Given the description of an element on the screen output the (x, y) to click on. 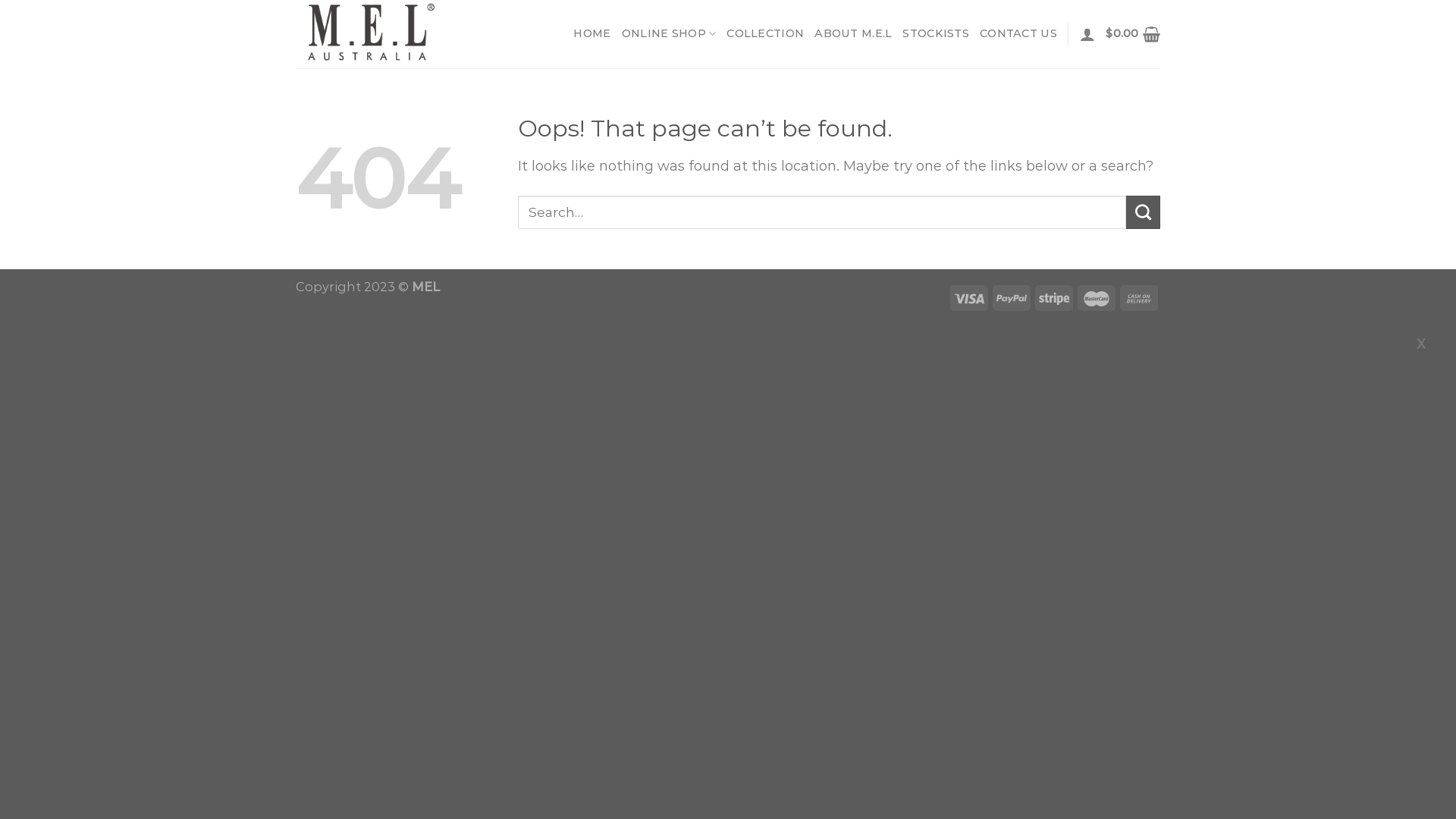
ABOUT M.E.L Element type: text (852, 33)
ONLINE SHOP Element type: text (668, 33)
X Element type: text (1421, 343)
CONTACT US Element type: text (1018, 33)
MEL Australia Element type: hover (371, 34)
STOCKISTS Element type: text (935, 33)
HOME Element type: text (591, 33)
COLLECTION Element type: text (764, 33)
$0.00 Element type: text (1132, 33)
